Given the description of an element on the screen output the (x, y) to click on. 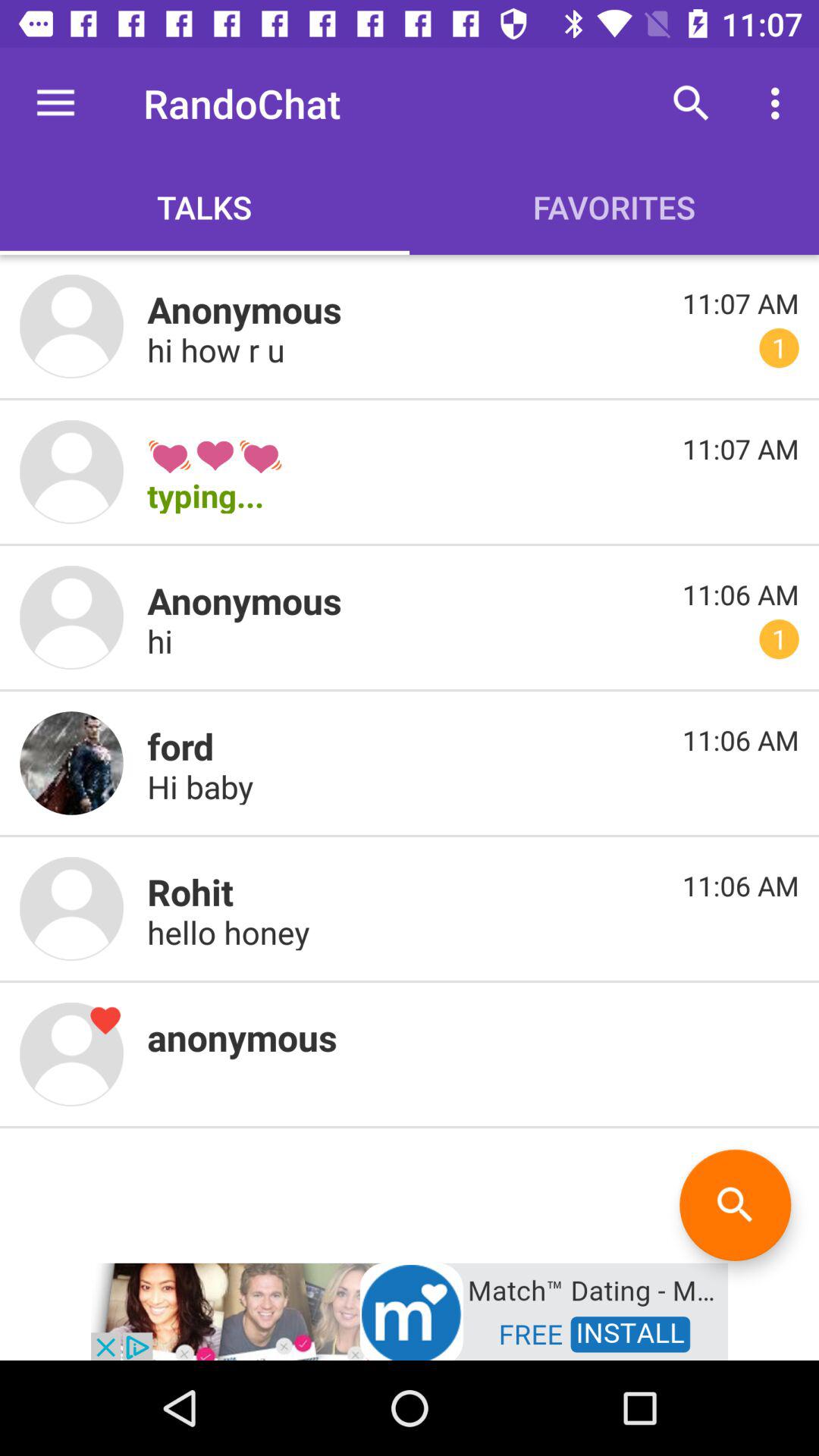
click to view profile picture (71, 326)
